Given the description of an element on the screen output the (x, y) to click on. 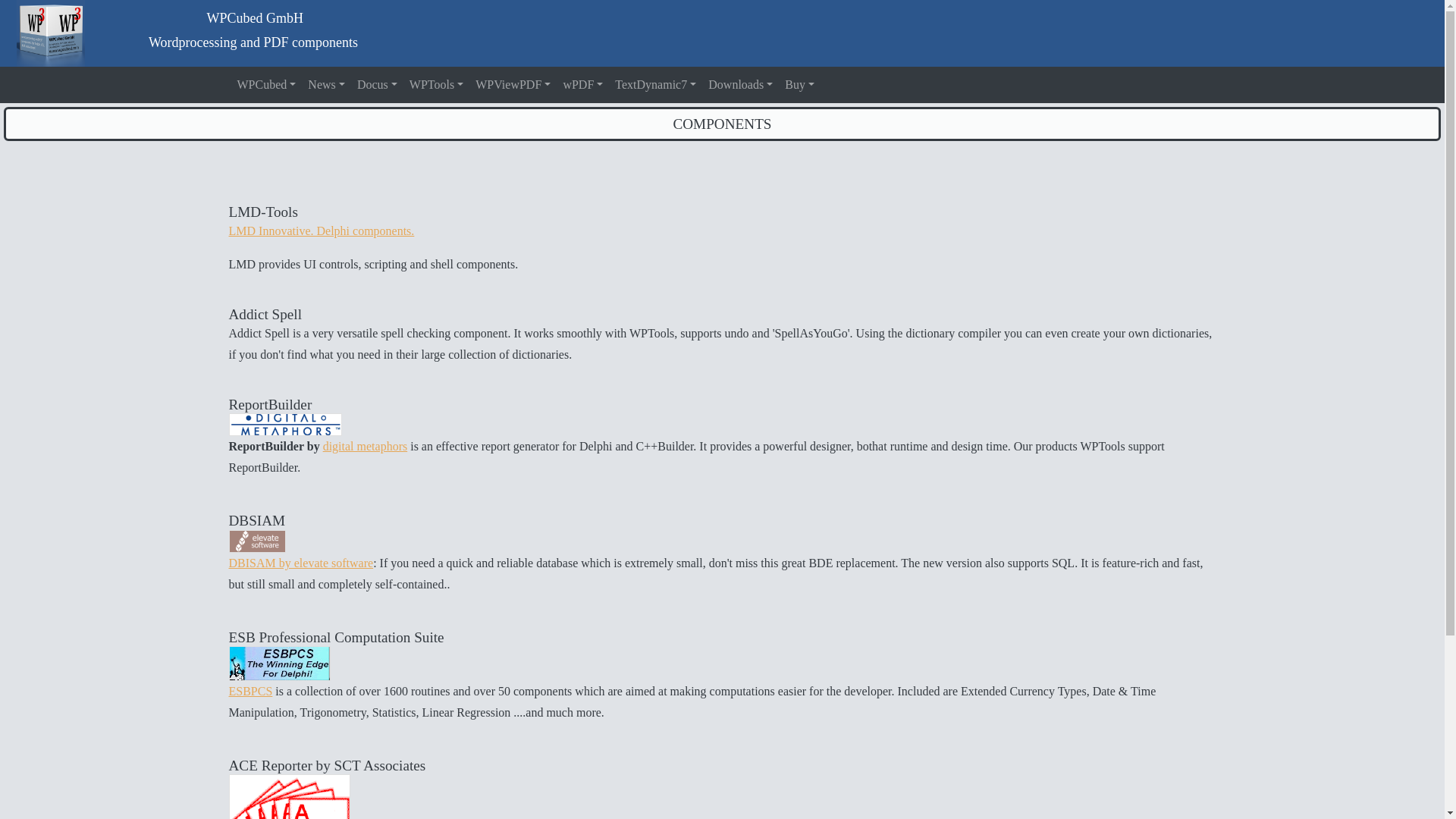
News (325, 84)
Docus (376, 84)
WPCubed (265, 84)
WPTools (435, 84)
